Given the description of an element on the screen output the (x, y) to click on. 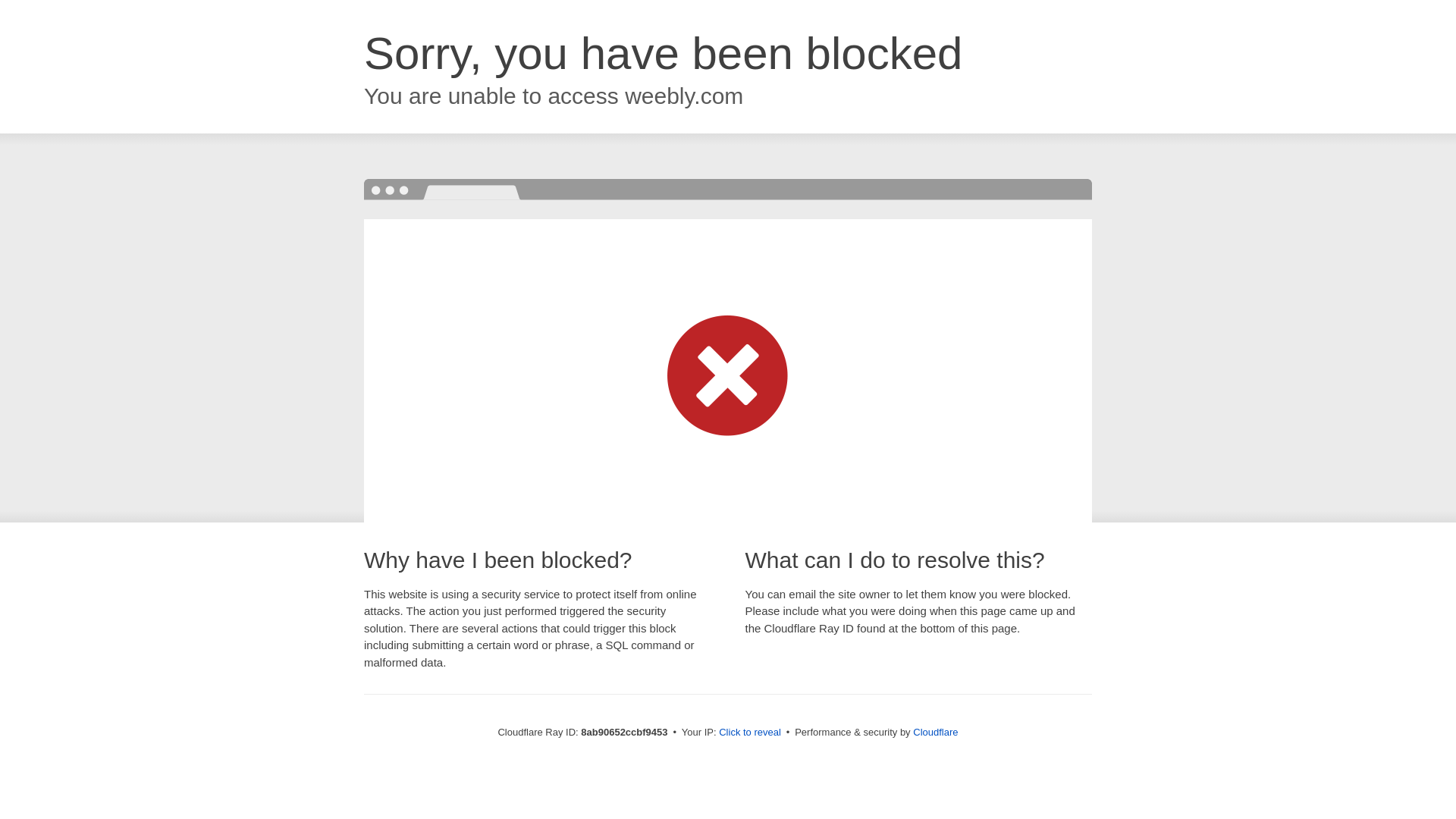
Click to reveal (749, 732)
Cloudflare (935, 731)
